Given the description of an element on the screen output the (x, y) to click on. 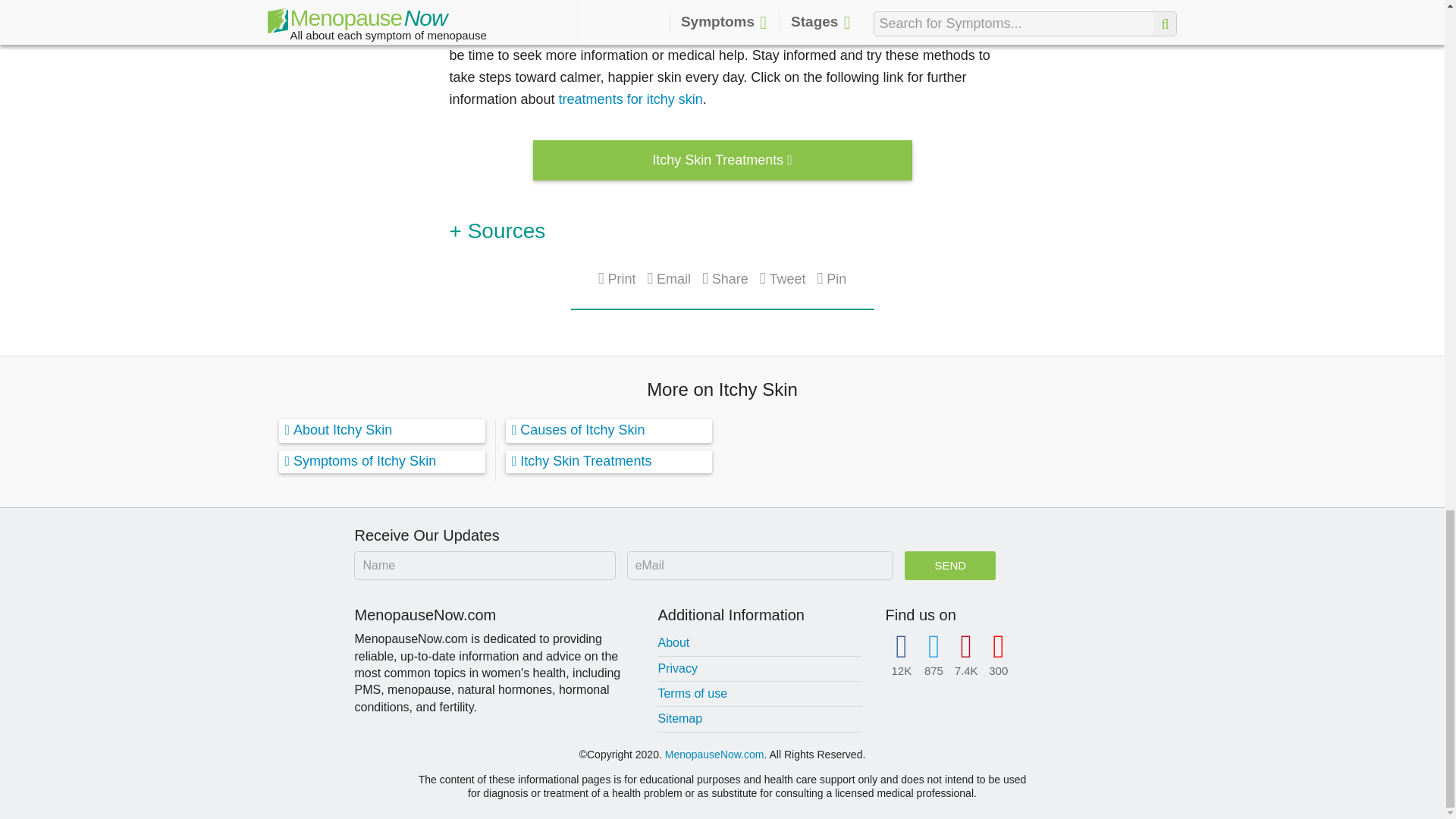
Print this page (617, 278)
Share on Facebook (724, 278)
Share on Pinterest (831, 278)
Email this page (668, 278)
Share on Twitter (783, 278)
